Given the description of an element on the screen output the (x, y) to click on. 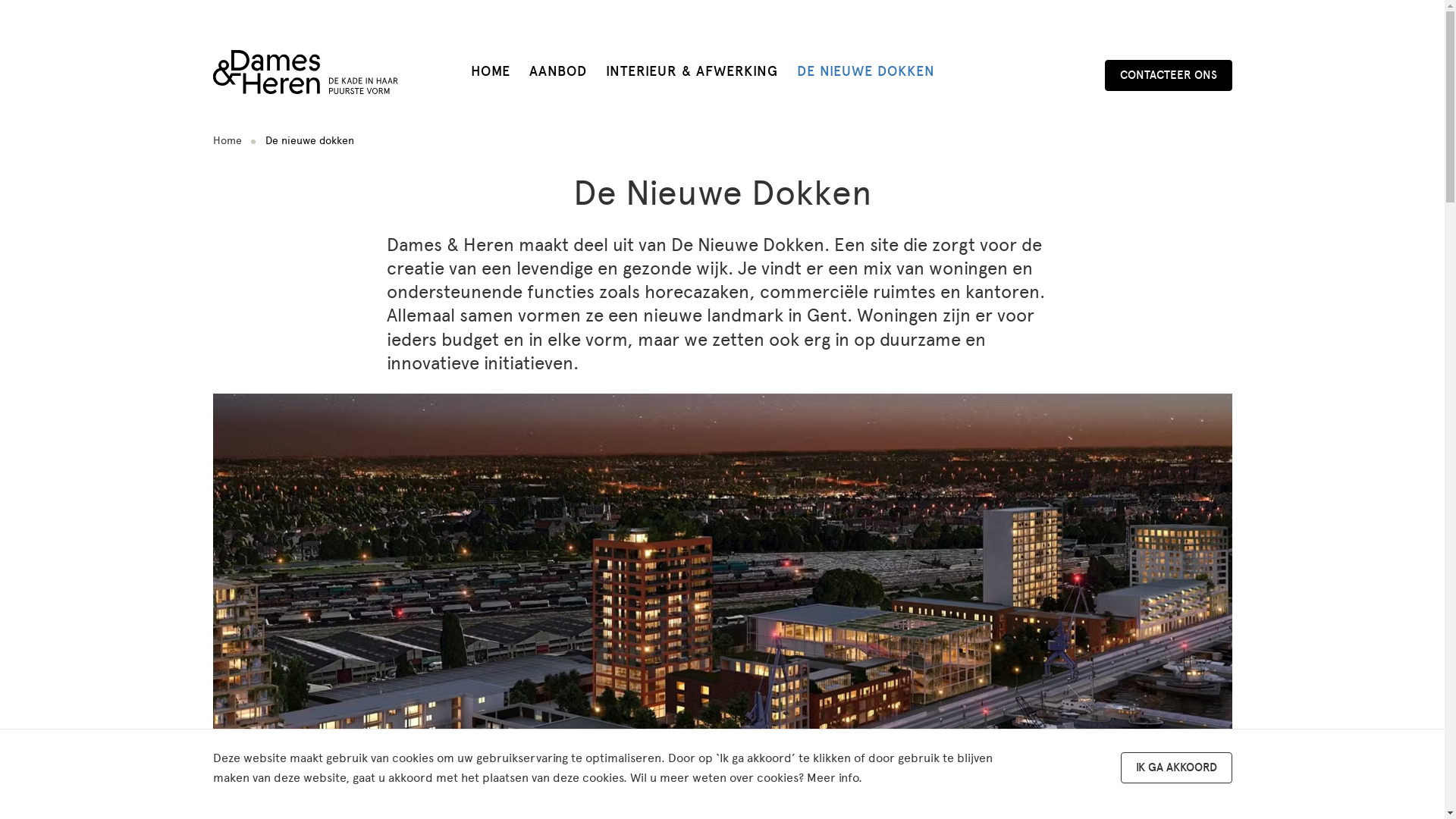
DE NIEUWE DOKKEN Element type: text (865, 71)
INTERIEUR & AFWERKING Element type: text (691, 71)
Meer info Element type: text (832, 777)
CONTACTEER ONS Element type: text (1167, 74)
De nieuwe dokken Element type: text (309, 141)
AANBOD Element type: text (557, 71)
IK GA AKKOORD Element type: text (1176, 767)
HOME Element type: text (489, 71)
Home Element type: text (226, 141)
